Given the description of an element on the screen output the (x, y) to click on. 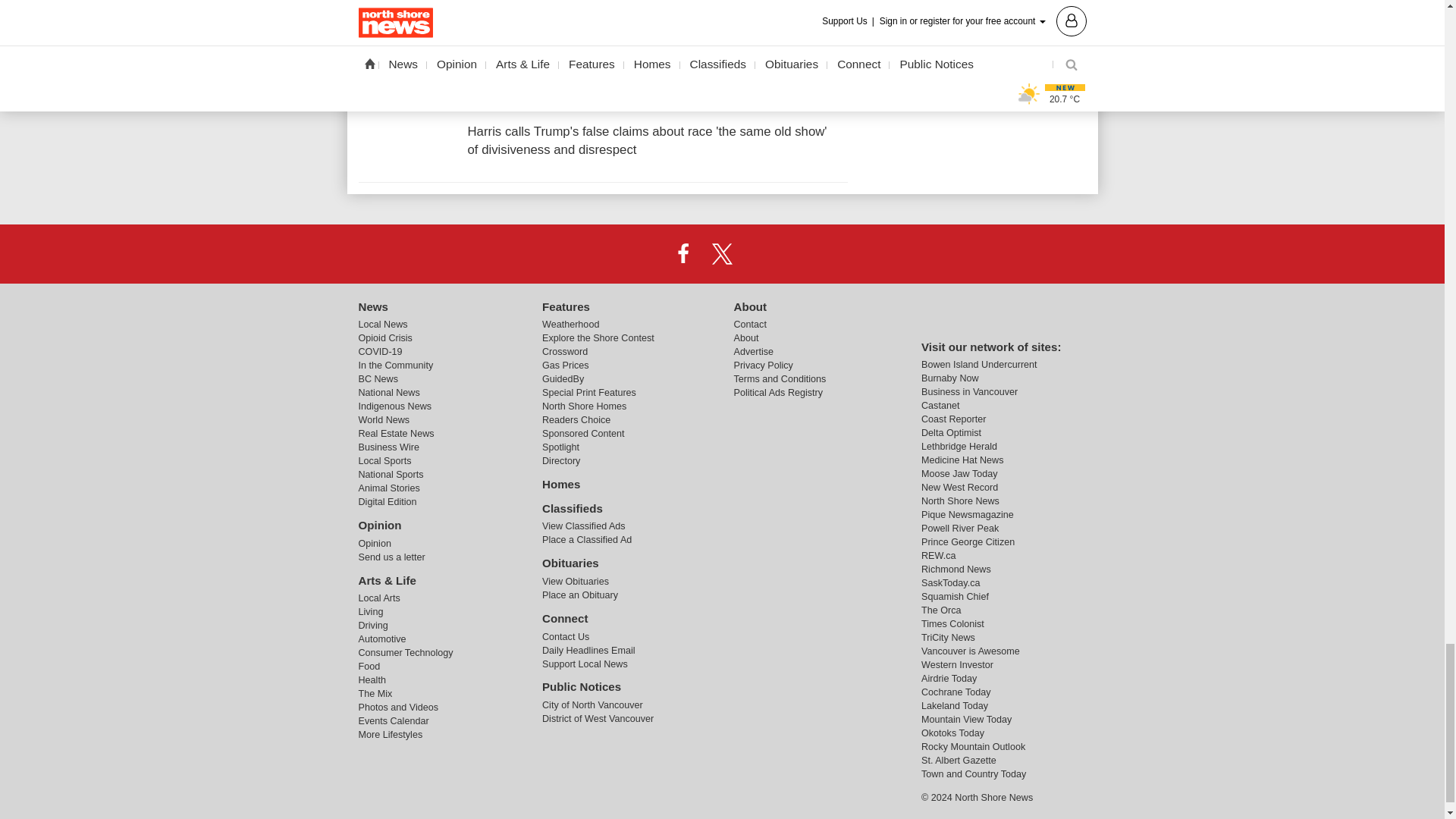
Instagram (760, 253)
Facebook (683, 253)
X (721, 253)
